Given the description of an element on the screen output the (x, y) to click on. 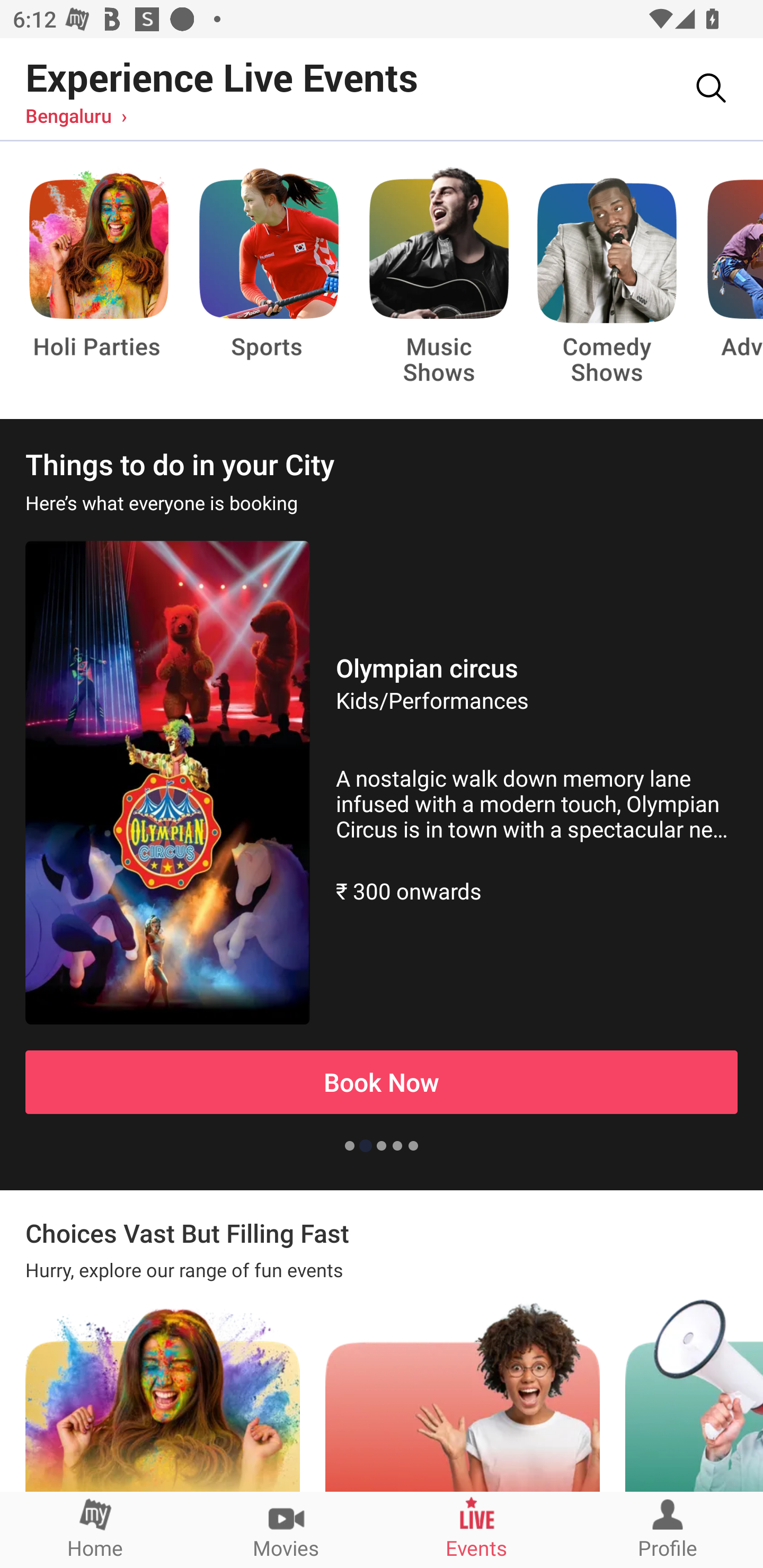
Bengaluru  › (76, 114)
Book Now (381, 1081)
Home (95, 1529)
Movies (285, 1529)
Events (476, 1529)
Profile (667, 1529)
